Given the description of an element on the screen output the (x, y) to click on. 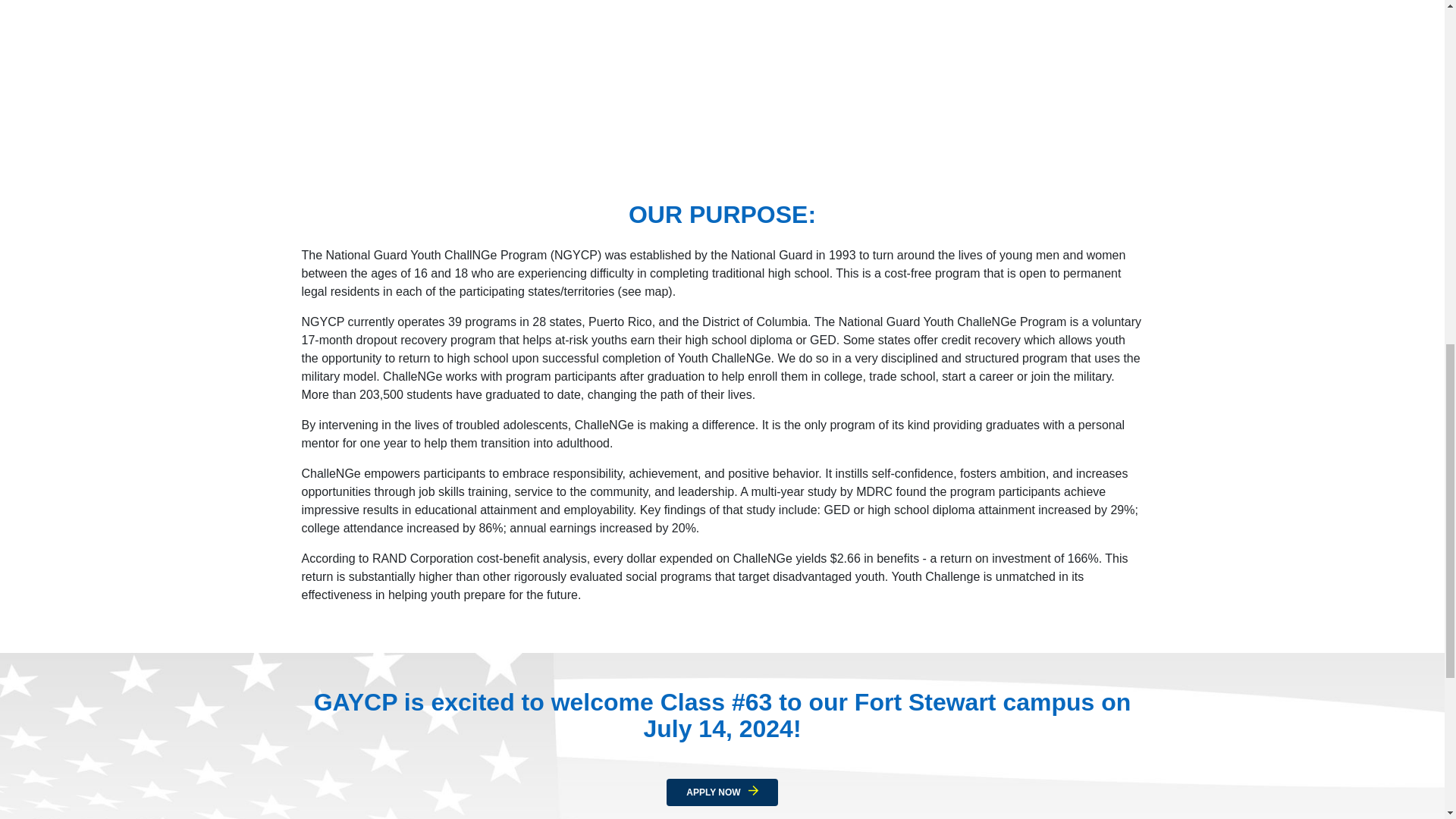
YouTube video player (721, 91)
